Given the description of an element on the screen output the (x, y) to click on. 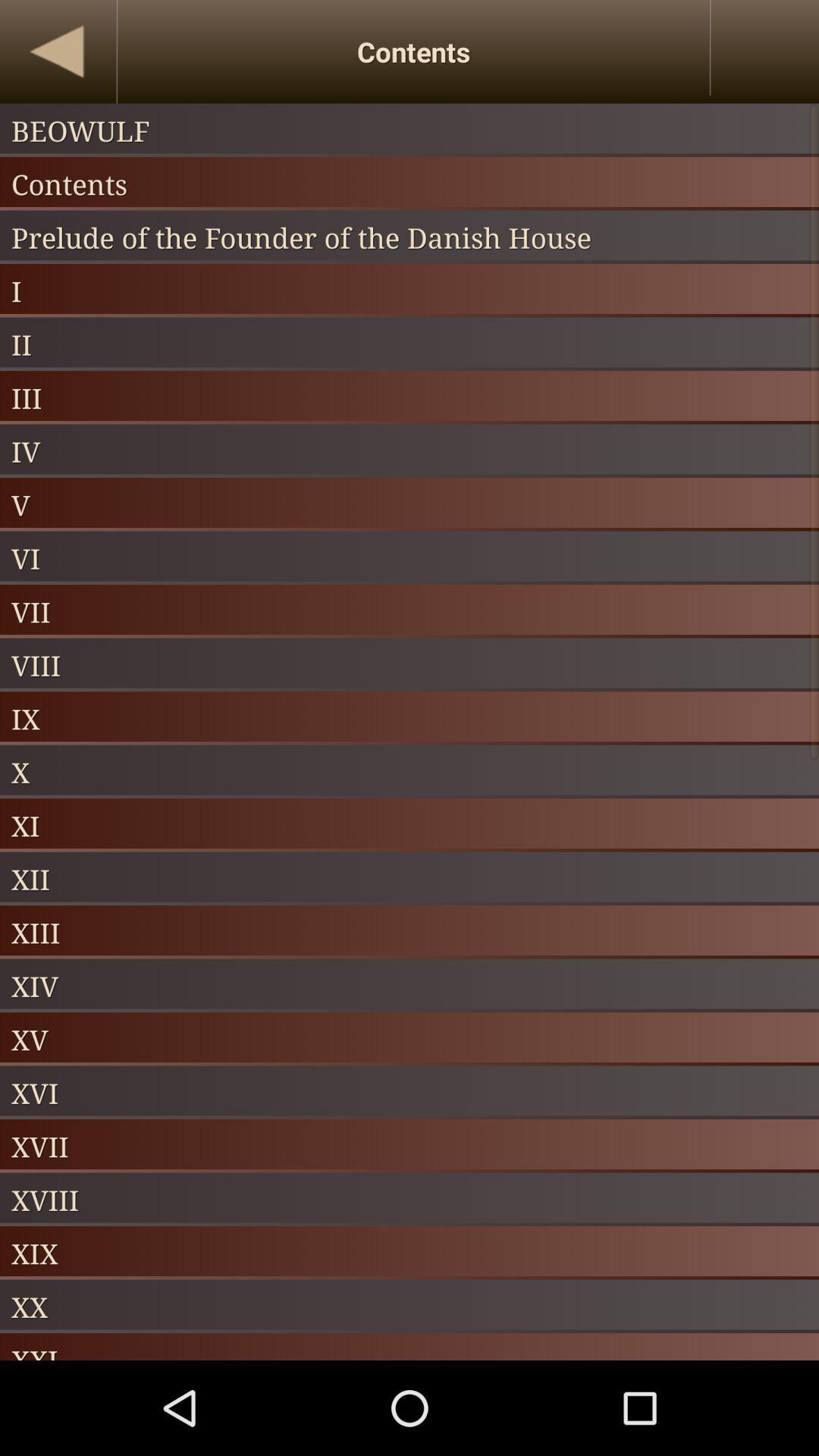
turn on icon above the vii icon (409, 558)
